Given the description of an element on the screen output the (x, y) to click on. 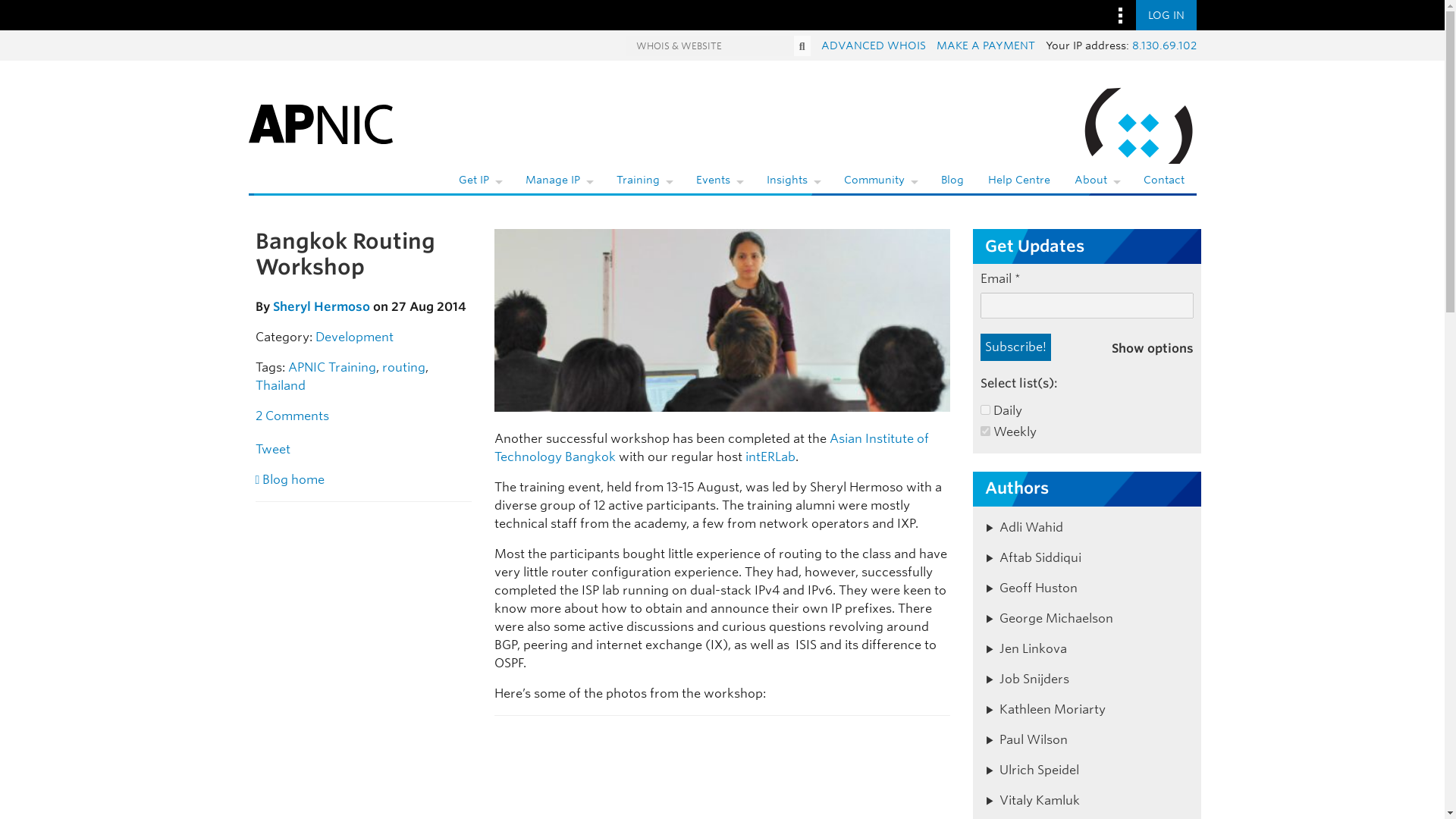
8.130.69.102 (1163, 45)
4 (984, 409)
Posts by Sheryl Hermoso (321, 306)
Email (1086, 305)
MAKE A PAYMENT (984, 45)
ADVANCED WHOIS (872, 45)
View all posts in Development (354, 336)
3 (984, 430)
LOG IN (1165, 15)
Search (801, 45)
Subscribe! (1015, 347)
